Given the description of an element on the screen output the (x, y) to click on. 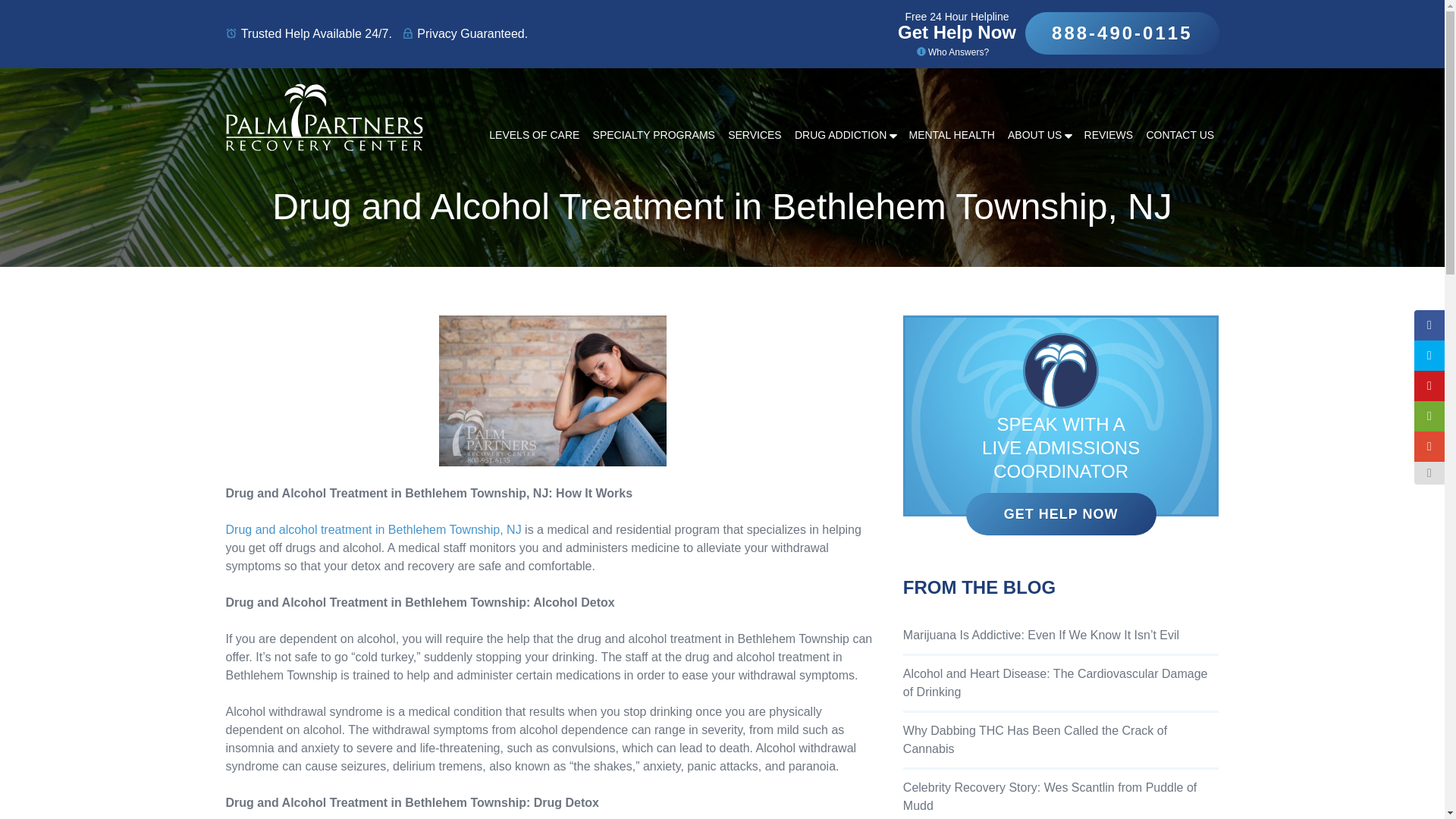
SERVICES (754, 135)
LEVELS OF CARE (534, 135)
New Jersey Drug Abuse (373, 529)
888-490-0115 (1121, 33)
MENTAL HEALTH (951, 135)
SPECIALTY PROGRAMS (653, 135)
DRUG ADDICTION (845, 135)
